Given the description of an element on the screen output the (x, y) to click on. 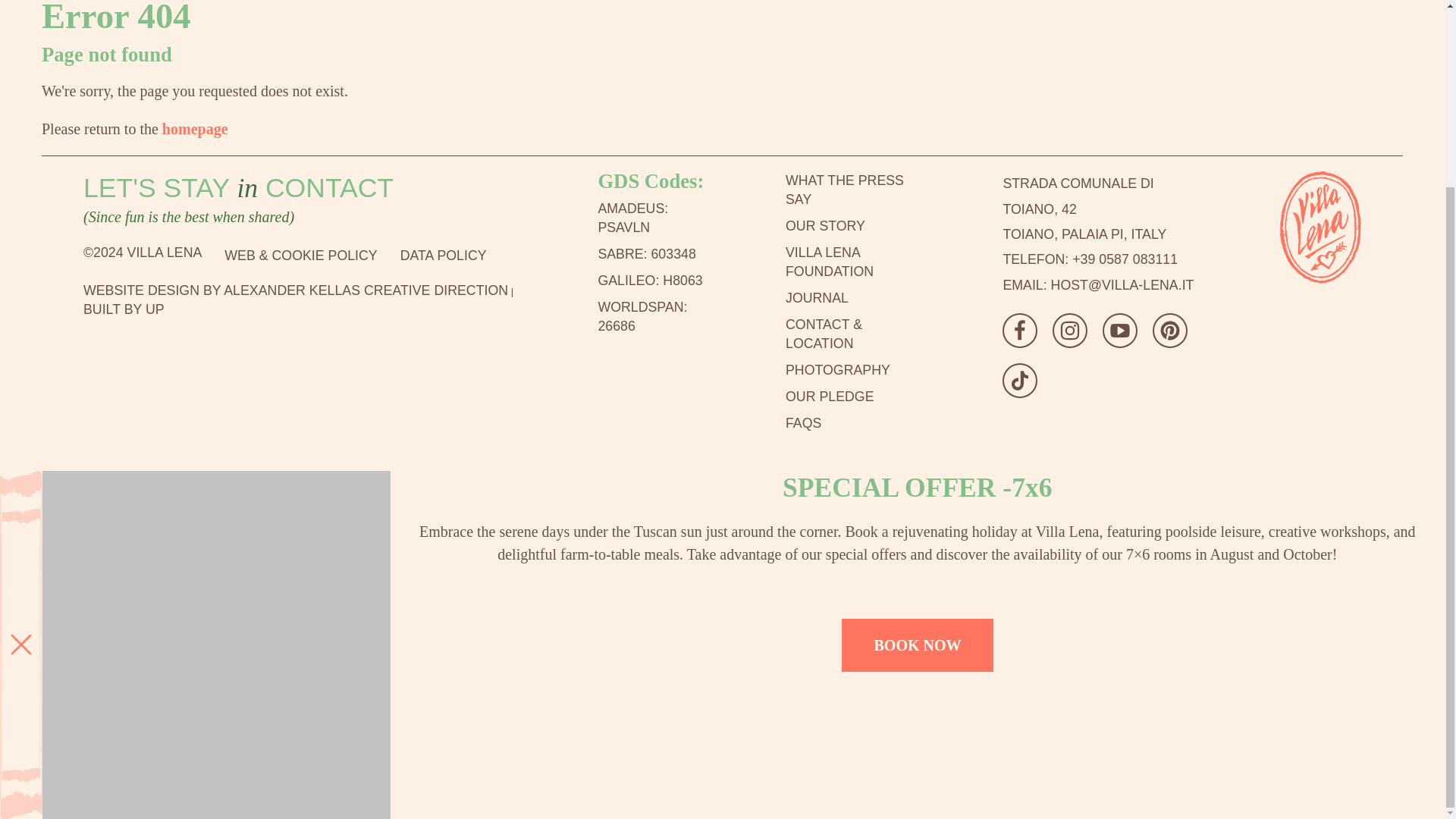
homepage (194, 128)
OUR PLEDGE (1084, 208)
WEBSITE DESIGN BY ALEXANDER KELLAS CREATIVE DIRECTION (856, 396)
FAQS (295, 290)
PHOTOGRAPHY (856, 423)
BUILT BY UP (856, 370)
VILLA LENA FOUNDATION (123, 309)
WHAT THE PRESS SAY (856, 262)
OUR STORY (856, 190)
